Given the description of an element on the screen output the (x, y) to click on. 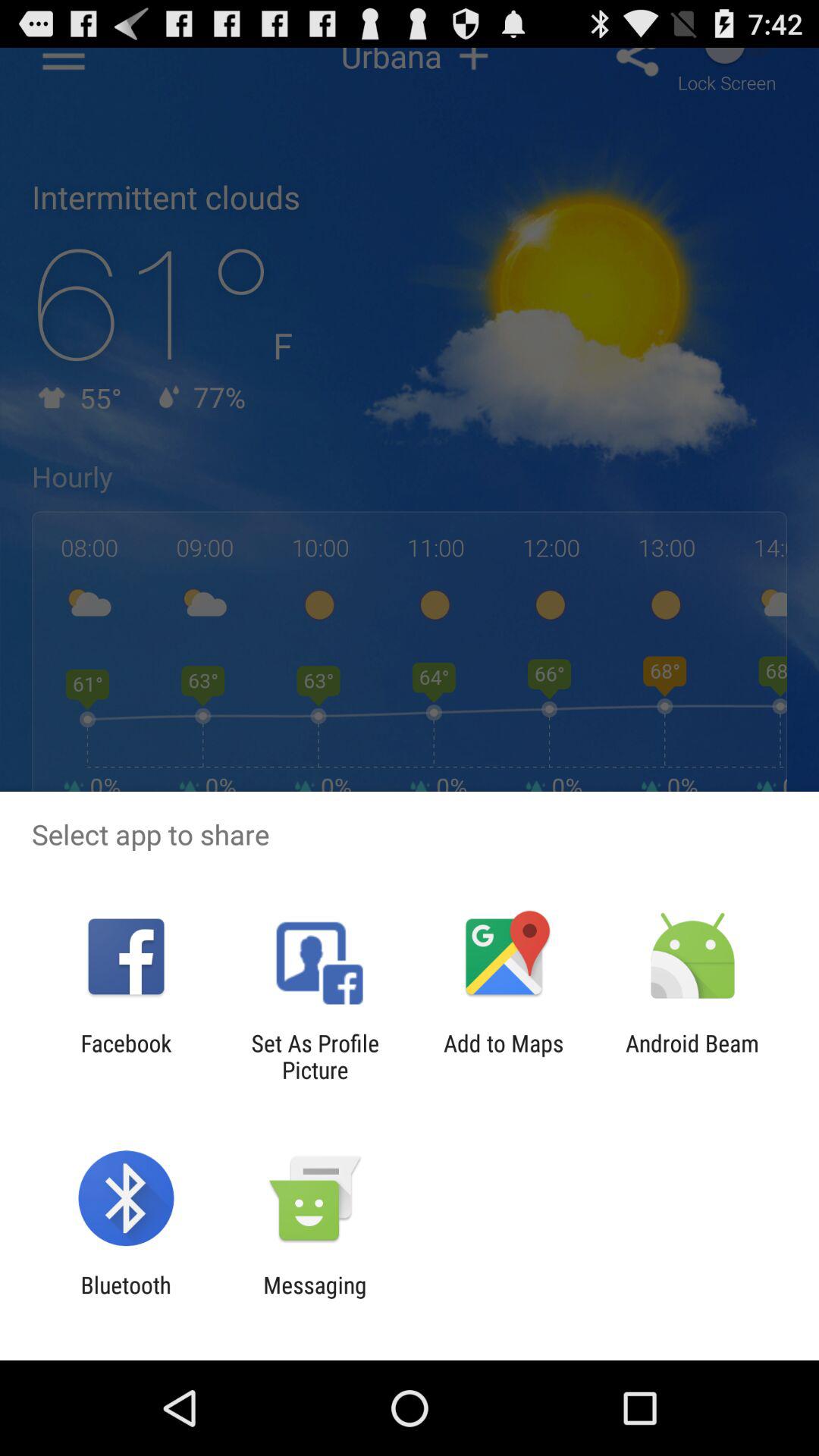
choose android beam at the bottom right corner (692, 1056)
